Given the description of an element on the screen output the (x, y) to click on. 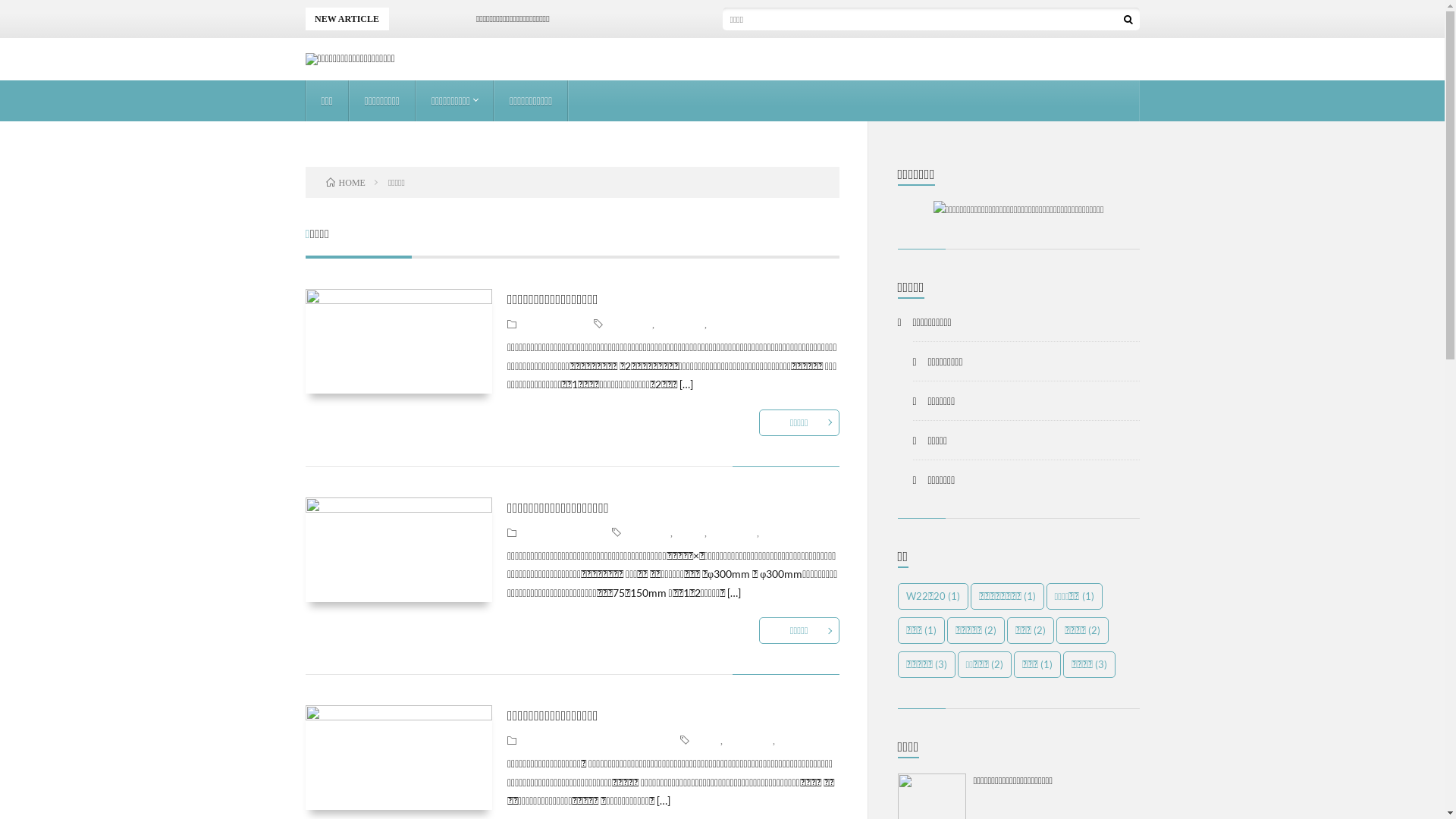
search Element type: text (1127, 18)
HOME Element type: text (345, 182)
